Given the description of an element on the screen output the (x, y) to click on. 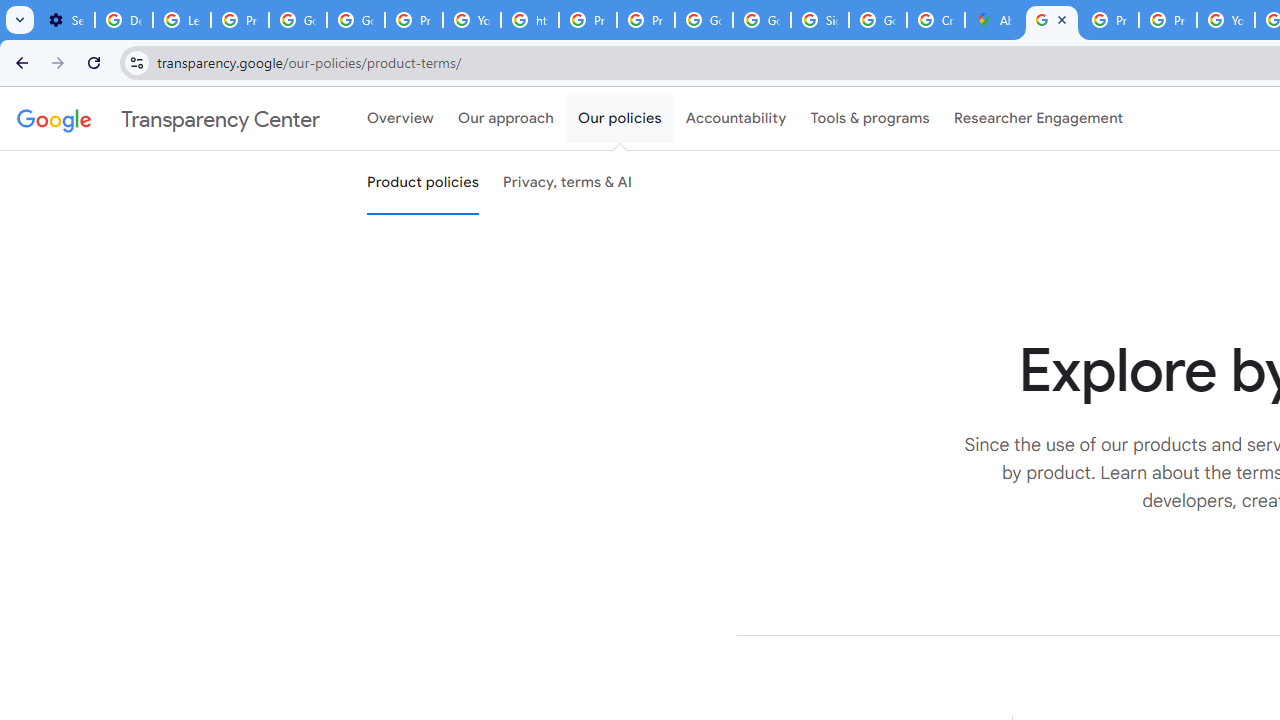
Privacy Help Center - Policies Help (587, 20)
Privacy Help Center - Policies Help (1110, 20)
Product policies (422, 183)
